Given the description of an element on the screen output the (x, y) to click on. 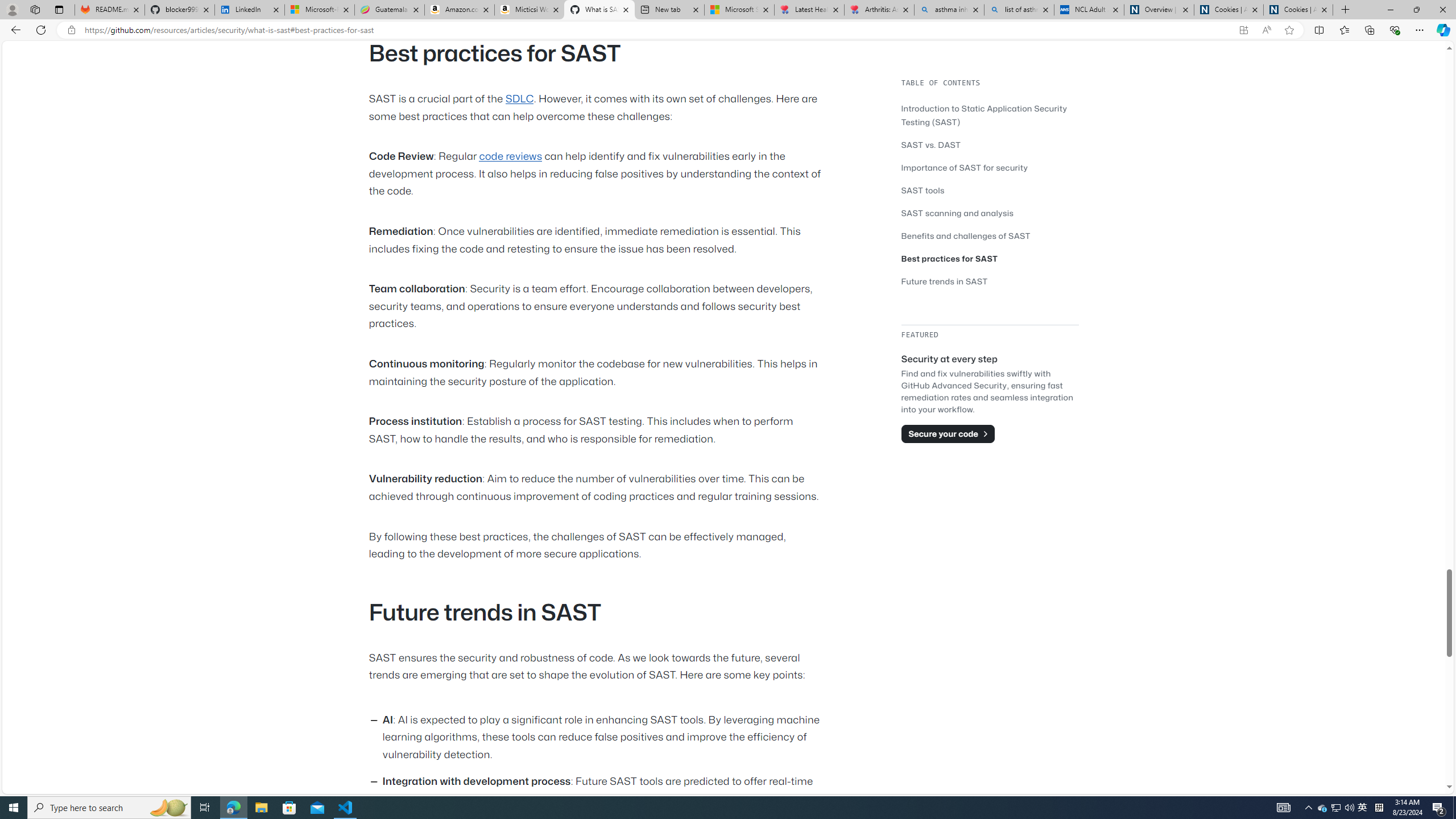
LinkedIn (249, 9)
Secure your code (947, 433)
Best practices for SAST (949, 258)
Best practices for SAST (989, 258)
App available. Install GitHub (1243, 29)
Cookies | About | NICE (1297, 9)
Introduction to Static Application Security Testing (SAST) (984, 114)
